Given the description of an element on the screen output the (x, y) to click on. 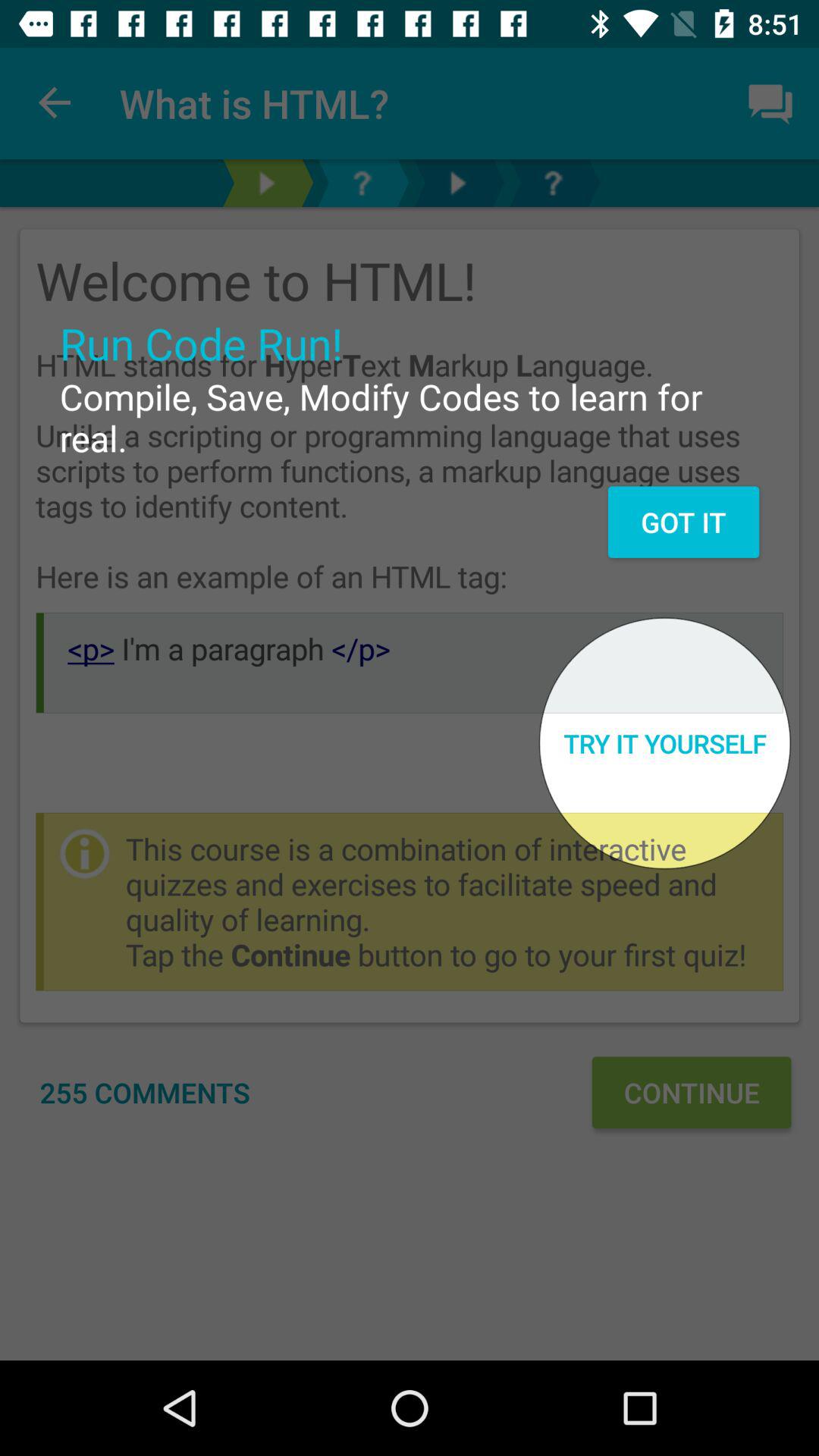
question mark (361, 183)
